Given the description of an element on the screen output the (x, y) to click on. 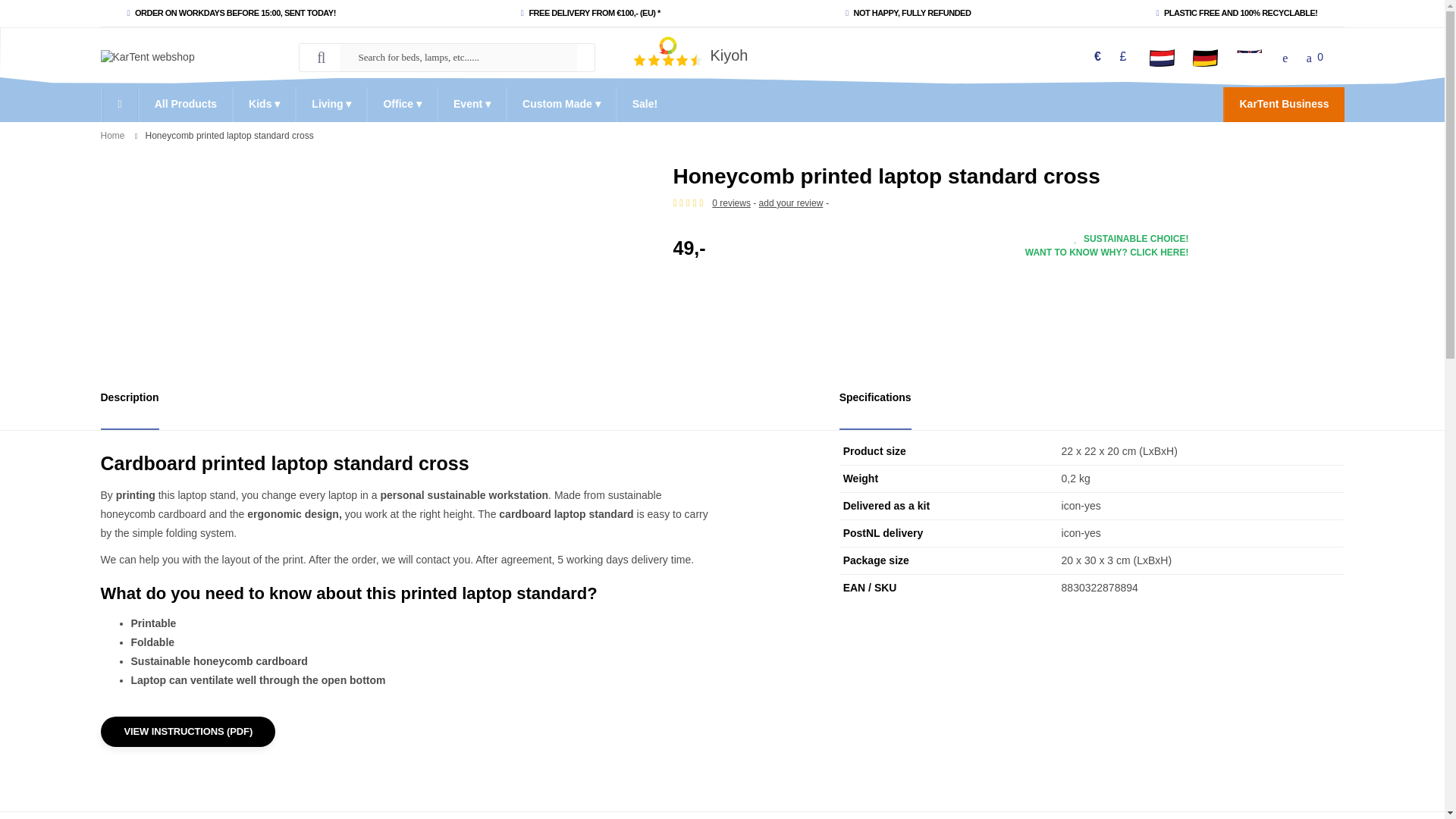
Cart (1314, 57)
Home (111, 135)
Wishlist (1285, 57)
